Given the description of an element on the screen output the (x, y) to click on. 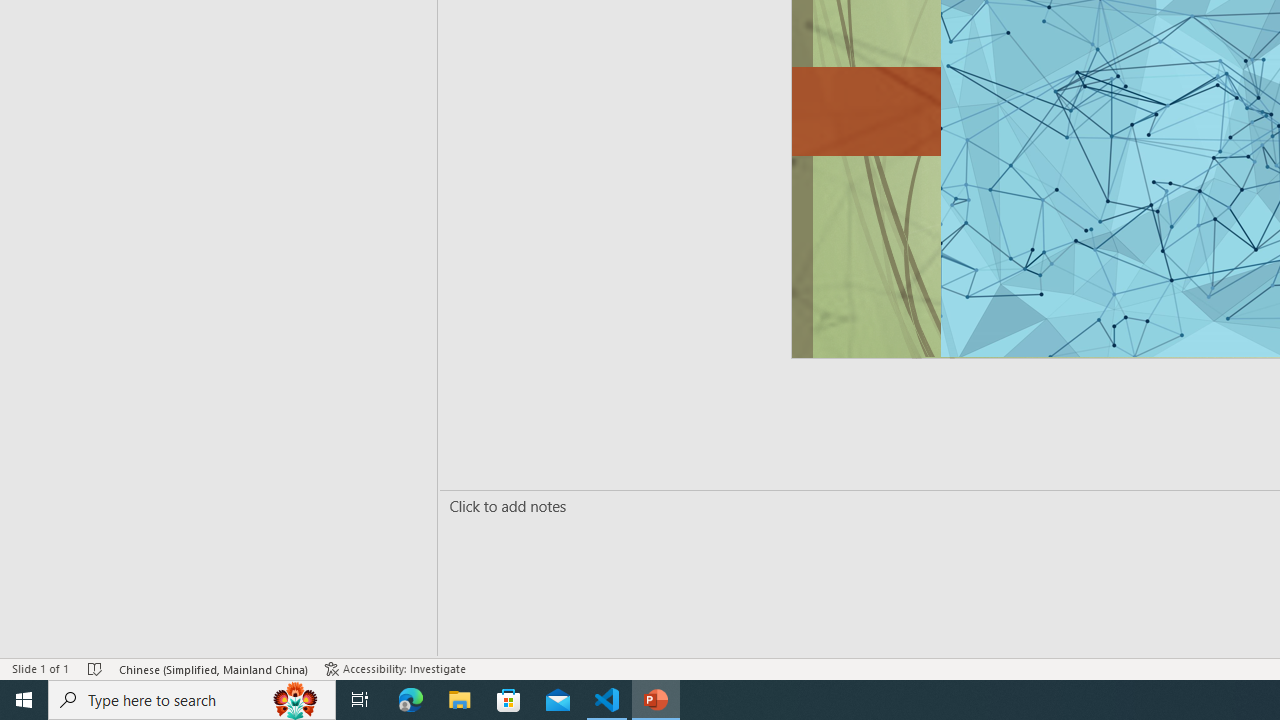
Type here to search (191, 699)
Accessibility Checker Accessibility: Investigate (395, 668)
Microsoft Edge (411, 699)
PowerPoint - 1 running window (656, 699)
File Explorer (460, 699)
Task View (359, 699)
Start (24, 699)
Spell Check No Errors (95, 668)
Search highlights icon opens search home window (295, 699)
Visual Studio Code - 1 running window (607, 699)
Microsoft Store (509, 699)
